Given the description of an element on the screen output the (x, y) to click on. 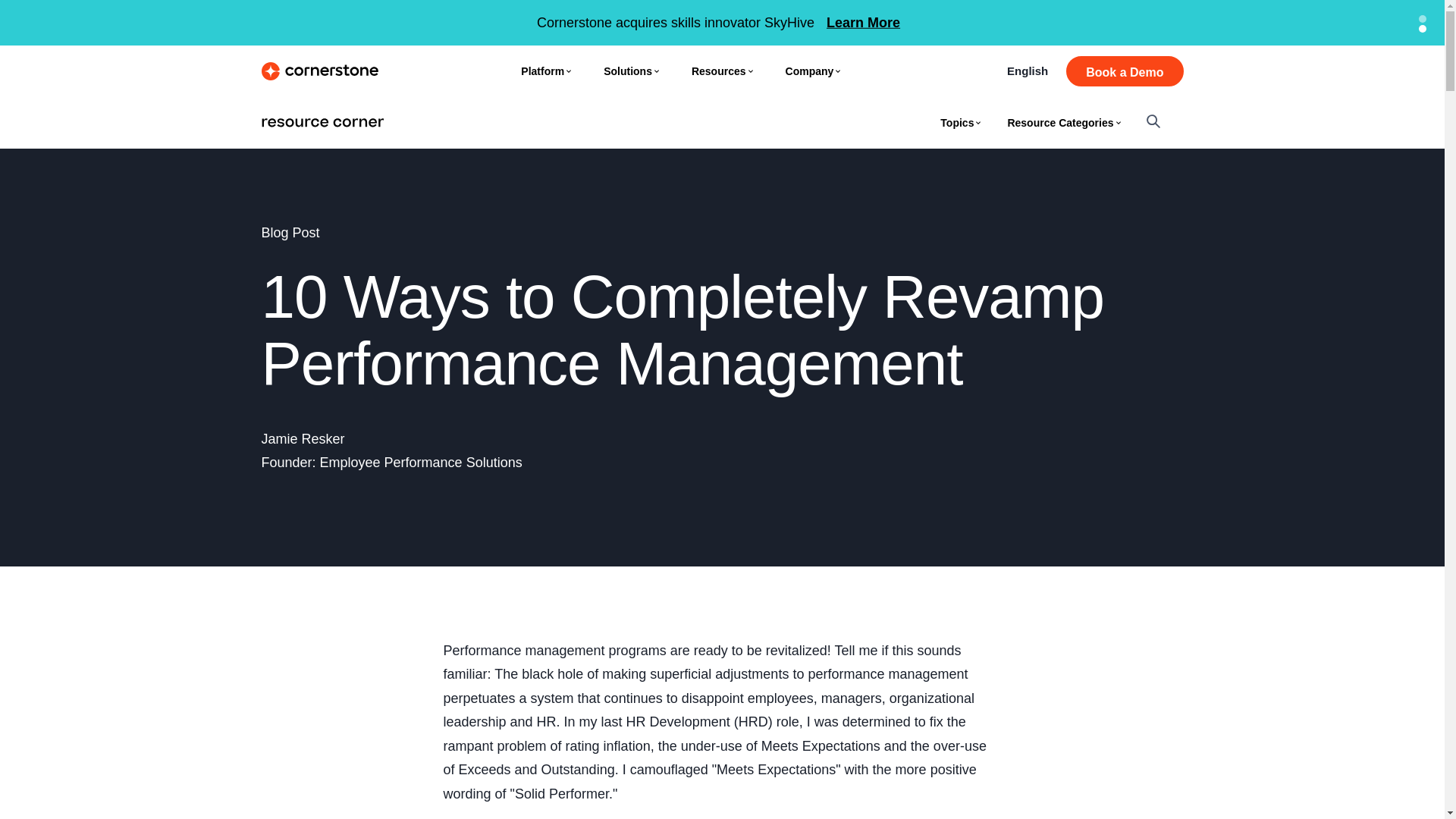
Learn More (863, 22)
